Given the description of an element on the screen output the (x, y) to click on. 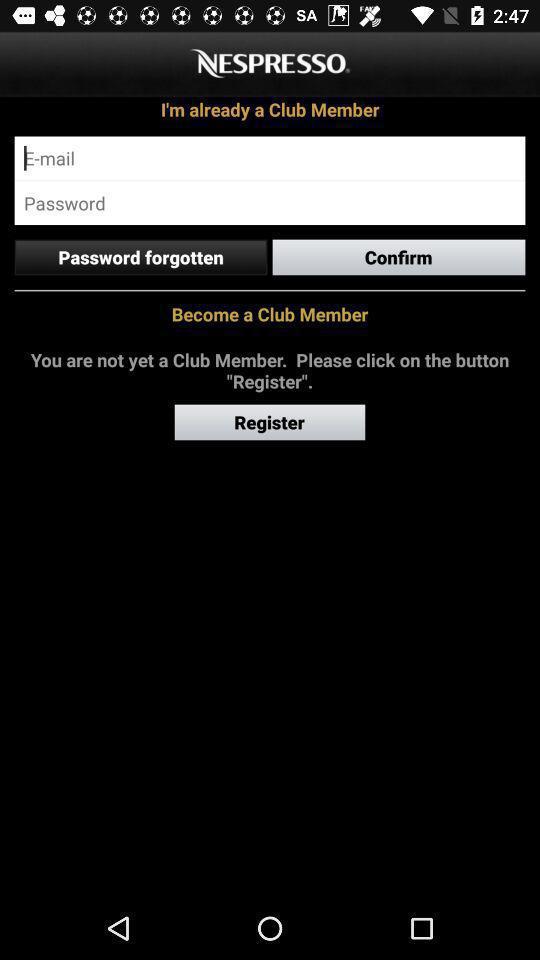
area where you type email address (269, 158)
